Given the description of an element on the screen output the (x, y) to click on. 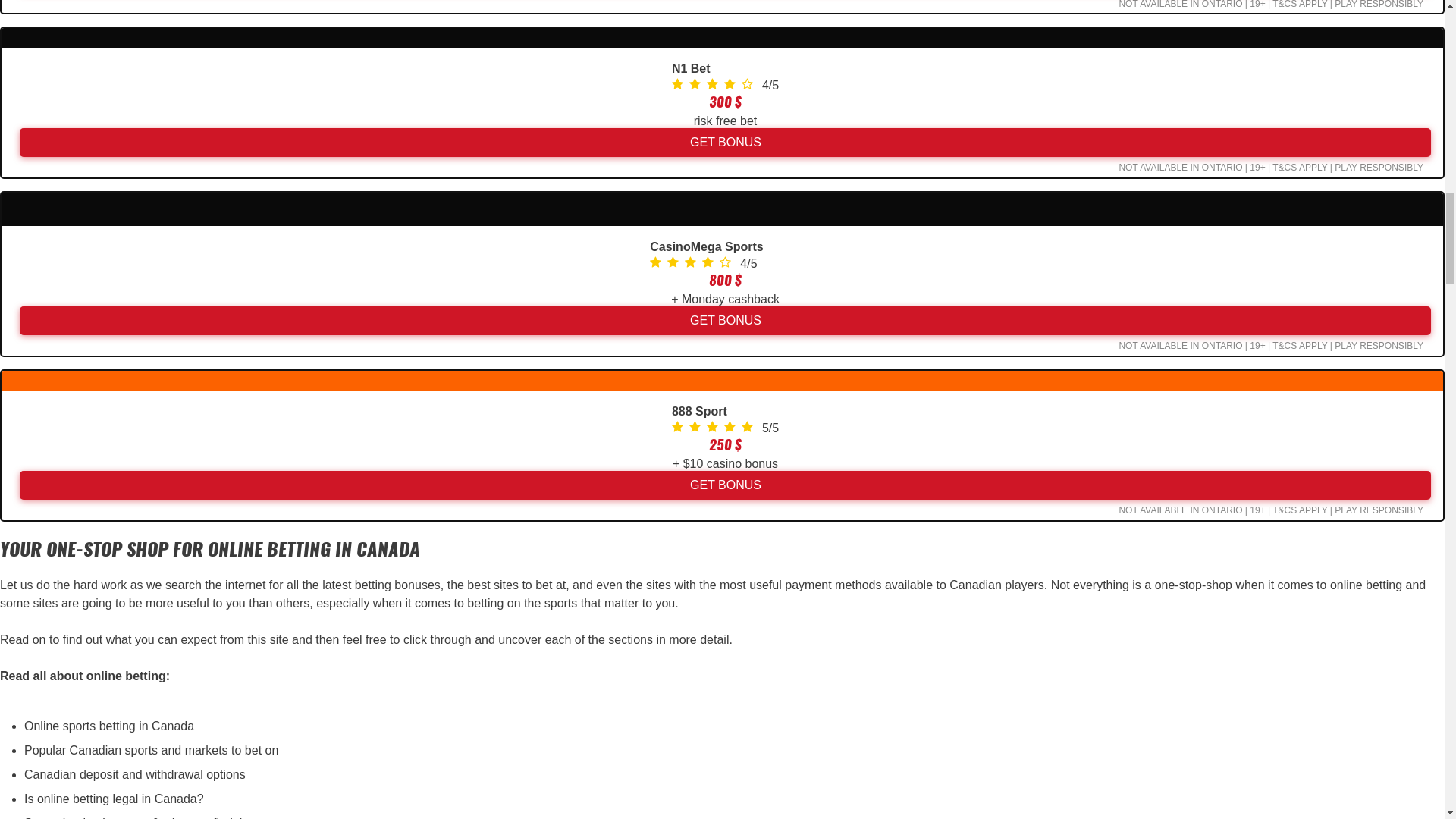
GET BONUS (725, 142)
GET BONUS (725, 320)
GET BONUS (725, 484)
